Given the description of an element on the screen output the (x, y) to click on. 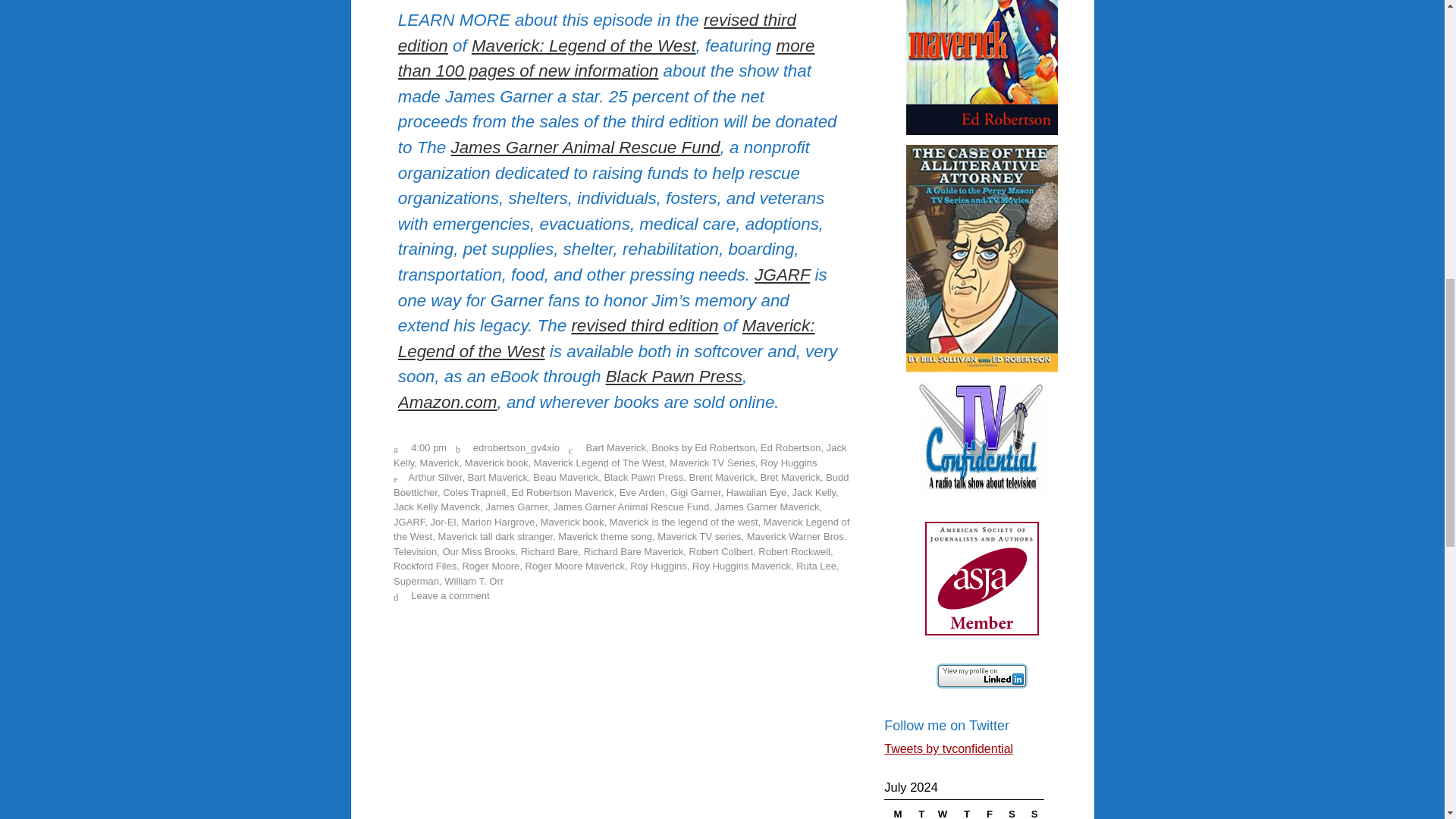
Maverick (440, 462)
Ed Robertson (790, 447)
Thursday (964, 810)
Maverick TV Series (711, 462)
Maverick book (496, 462)
Friday (986, 810)
4:00 pm (428, 447)
Roy Huggins (788, 462)
Amazon.com (447, 402)
Saturday (1009, 810)
revised third edition (596, 32)
Maverick Legend of The West (598, 462)
Bart Maverick (615, 447)
Maverick: Legend of the West (606, 338)
James Garner Animal Rescue Fund (584, 147)
